Given the description of an element on the screen output the (x, y) to click on. 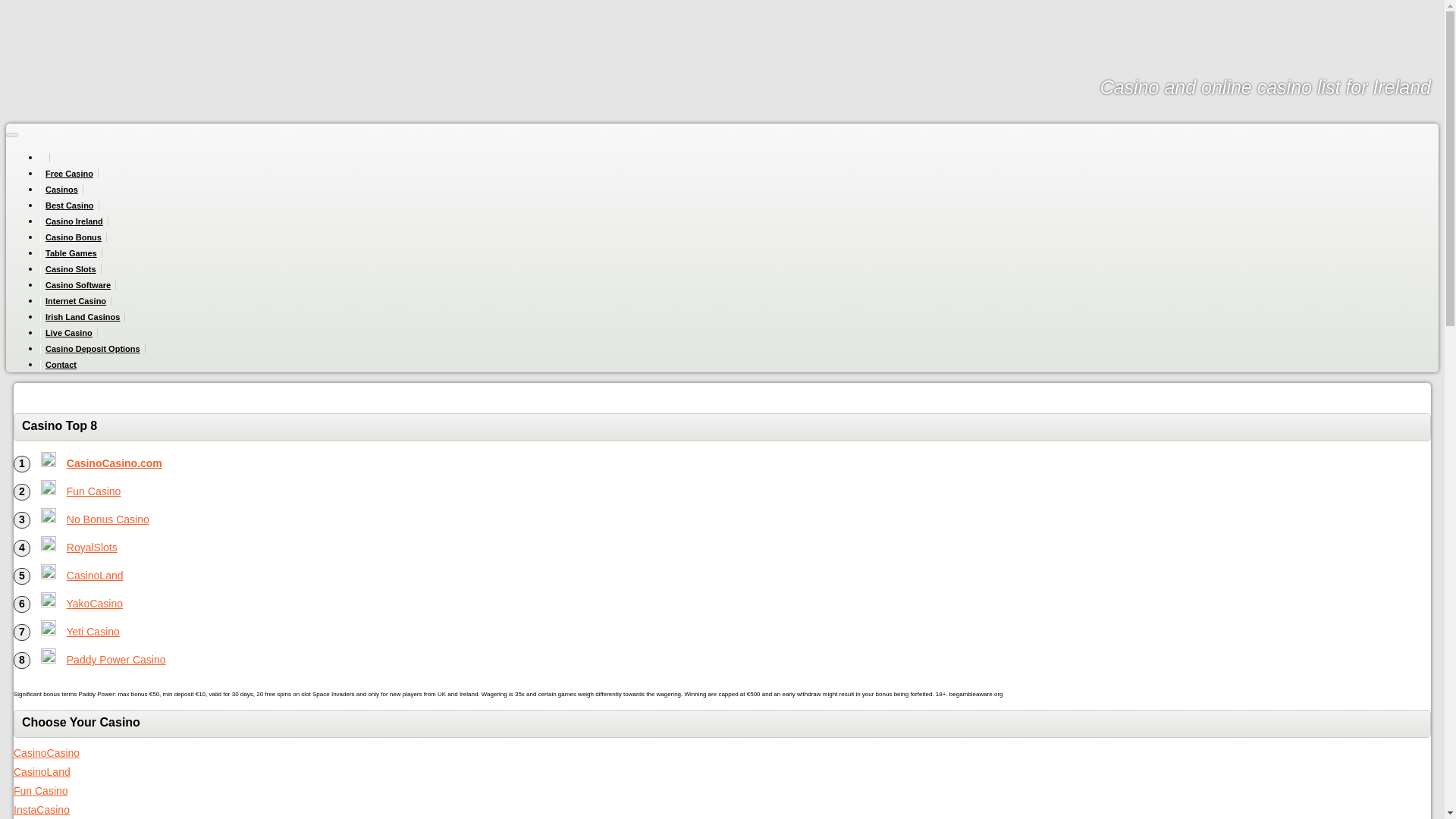
CasinoLand (94, 575)
Fun Casino (40, 790)
Free Casino (69, 173)
Paddy Power Casino (115, 659)
Casino Software (78, 284)
Fun Casino (93, 491)
CasinoCasino.com (48, 459)
Casinos (61, 189)
Irish Land Casinos (82, 316)
No Bonus Casino (48, 515)
